Given the description of an element on the screen output the (x, y) to click on. 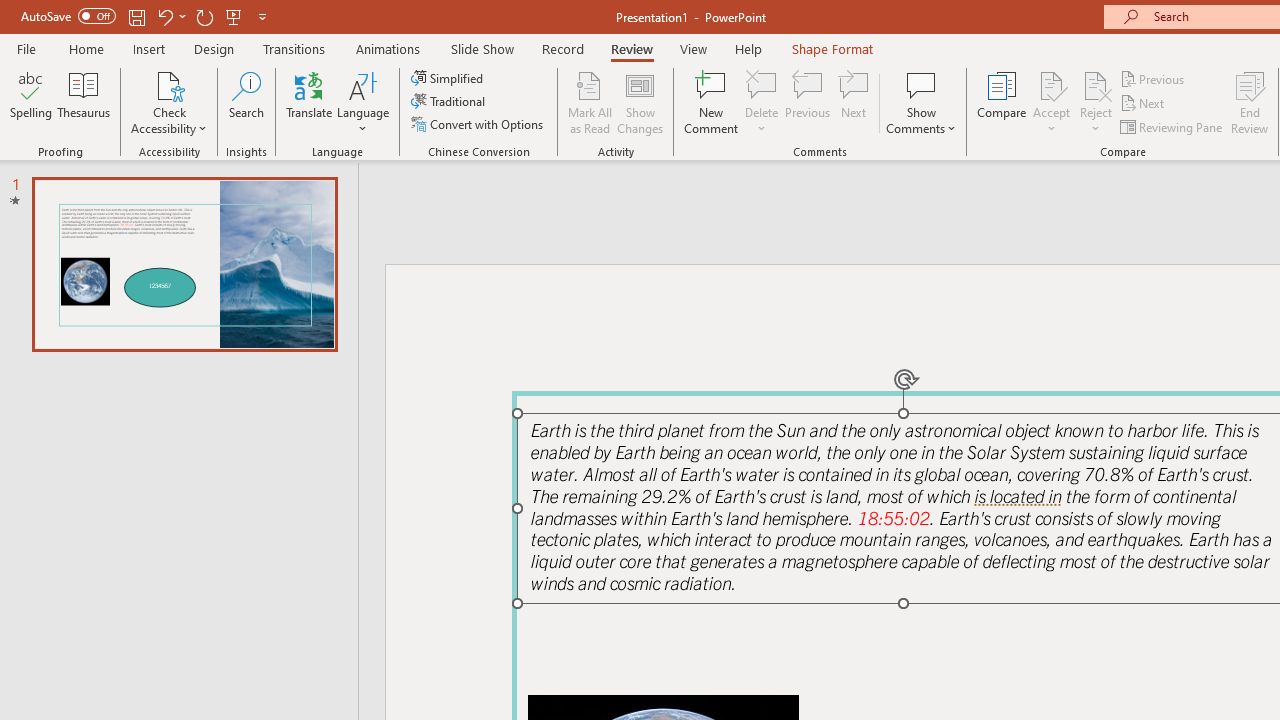
Convert with Options... (479, 124)
Traditional (449, 101)
Mark All as Read (589, 102)
